Given the description of an element on the screen output the (x, y) to click on. 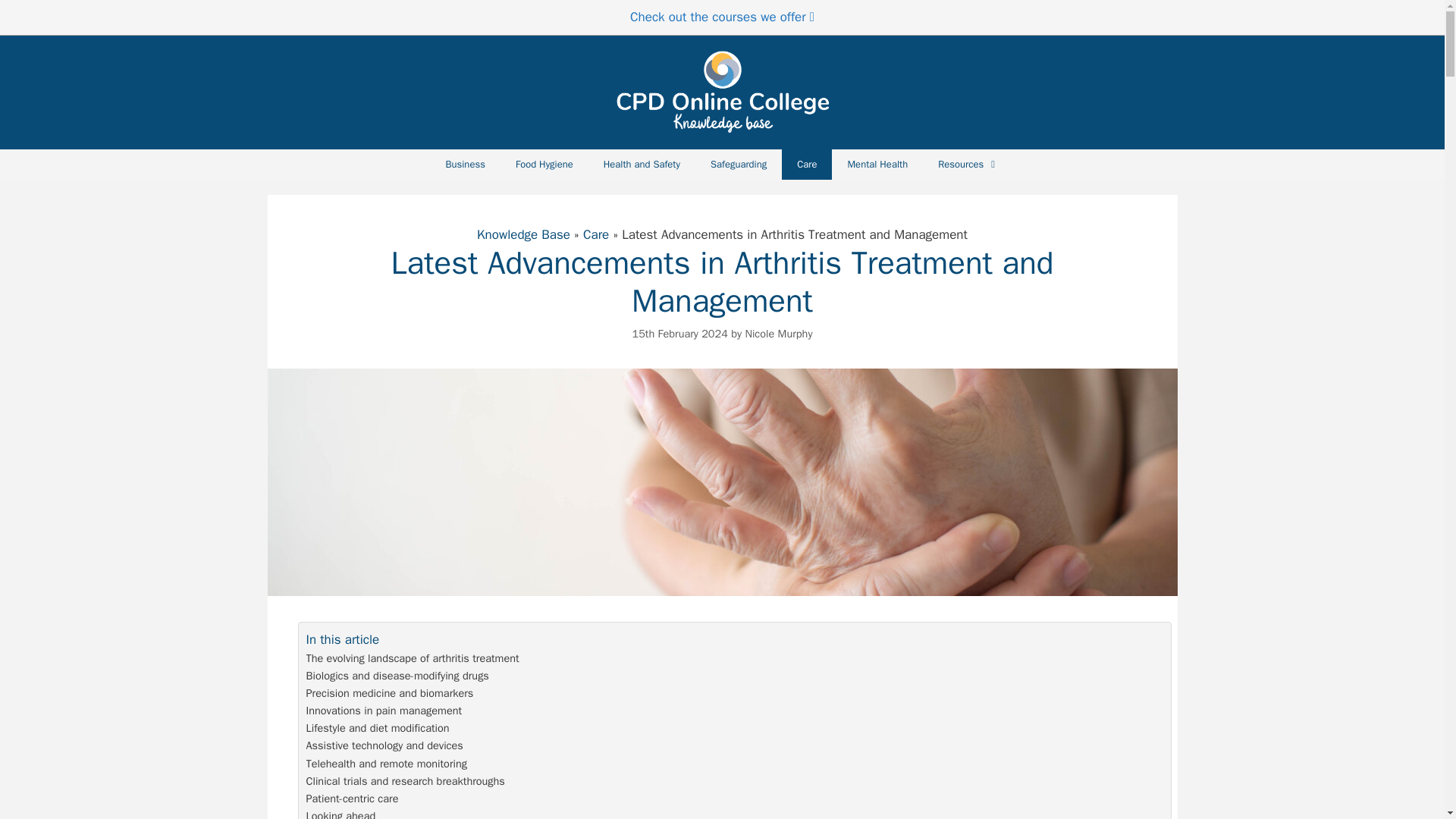
The evolving landscape of arthritis treatment (412, 658)
Health and Safety (641, 164)
Lifestyle and diet modification (377, 728)
Check out the courses we offer (721, 17)
Clinical trials and research breakthroughs (405, 781)
Business (464, 164)
Telehealth and remote monitoring (386, 764)
Patient-centric care (351, 798)
Biologics and disease-modifying drugs (397, 675)
Innovations in pain management (384, 710)
Resources (968, 164)
Knowledge Base (523, 234)
Biologics and disease-modifying drugs (397, 675)
Assistive technology and devices (384, 745)
